Given the description of an element on the screen output the (x, y) to click on. 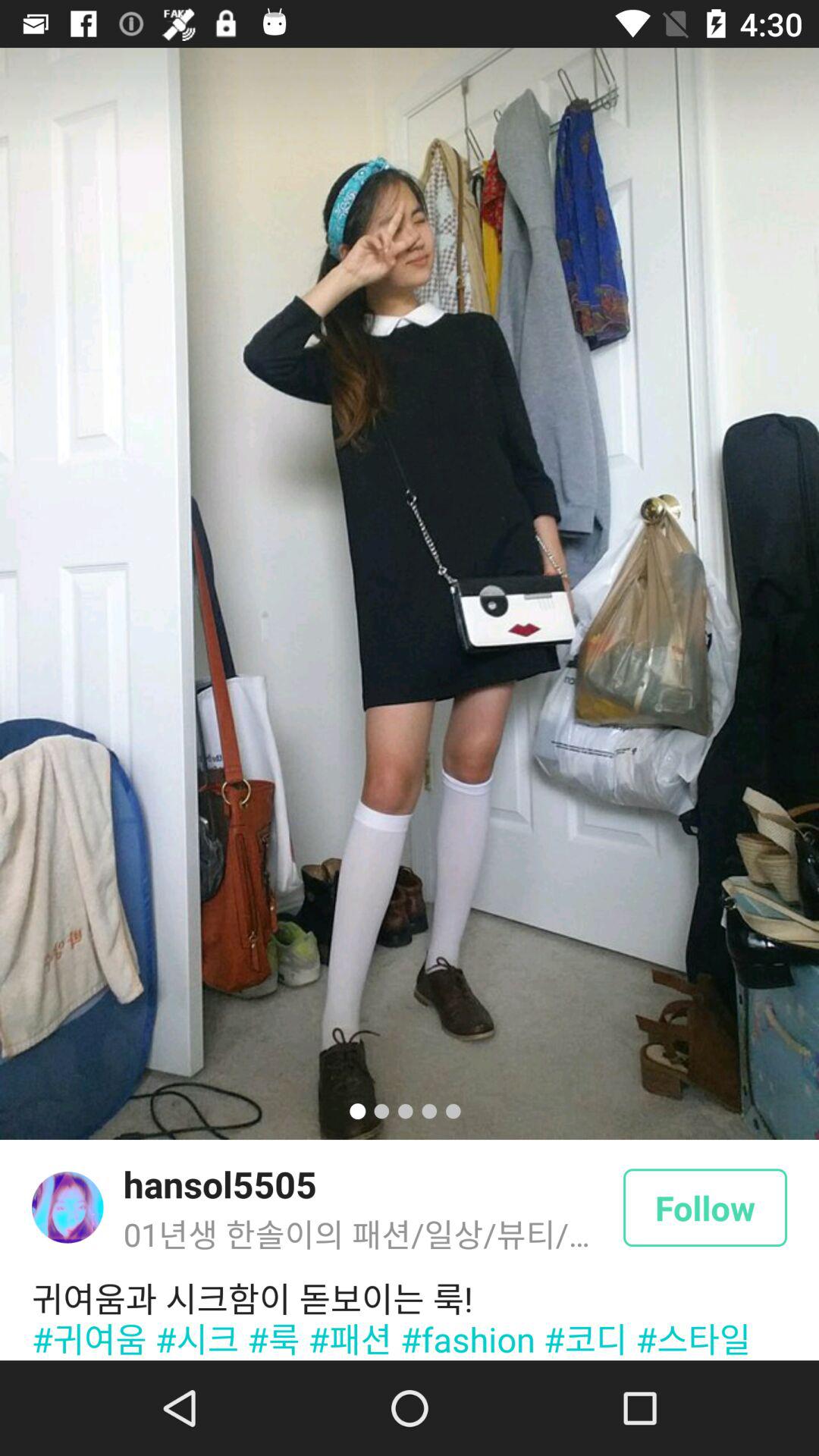
go to main profile (67, 1207)
